Given the description of an element on the screen output the (x, y) to click on. 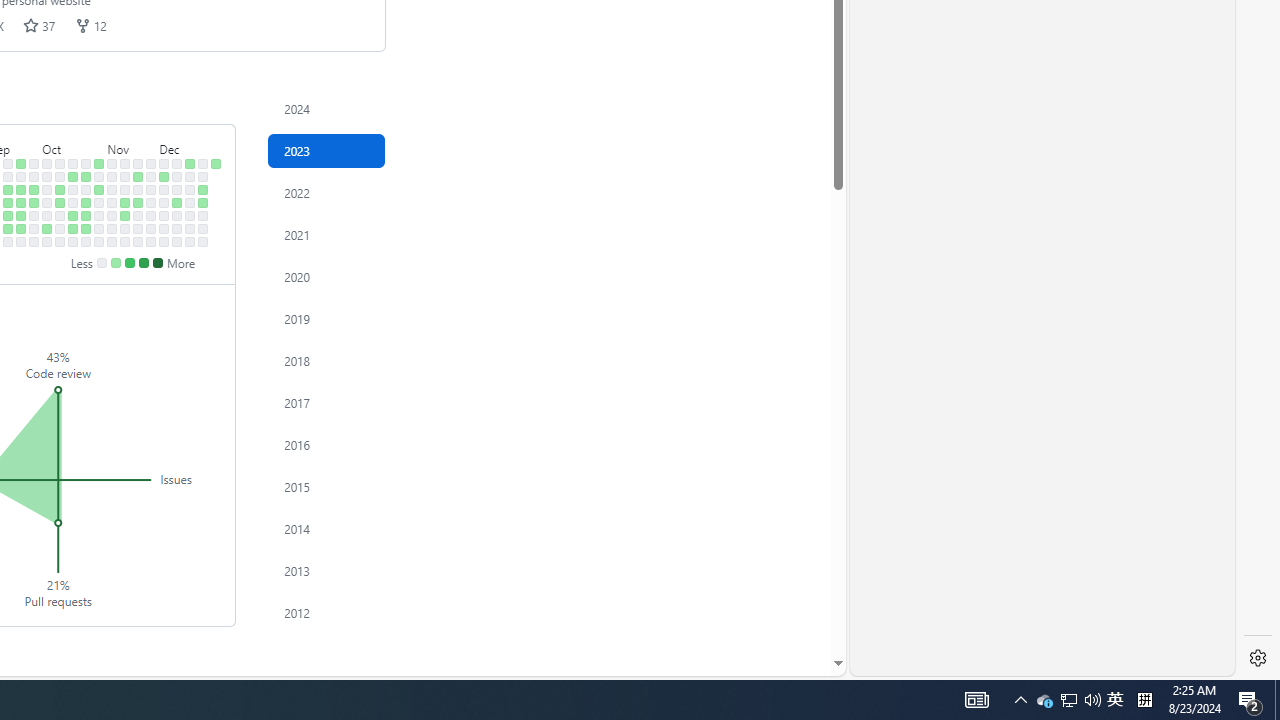
No contributions on November 2nd. (98, 215)
Contribution activity in 2024 (326, 107)
No contributions on October 21st. (73, 241)
No contributions on November 24th. (138, 228)
No contributions on November 10th. (112, 228)
2015 (326, 485)
1 contribution on December 13th. (177, 202)
No contributions on November 23rd. (138, 215)
3 contributions on September 20th. (20, 202)
Contribution activity in 2014 (326, 528)
1 contribution on September 26th. (34, 189)
No contributions on December 12th. (177, 189)
No contributions on November 3rd. (98, 228)
No contributions on December 16th. (177, 241)
November (132, 145)
